Given the description of an element on the screen output the (x, y) to click on. 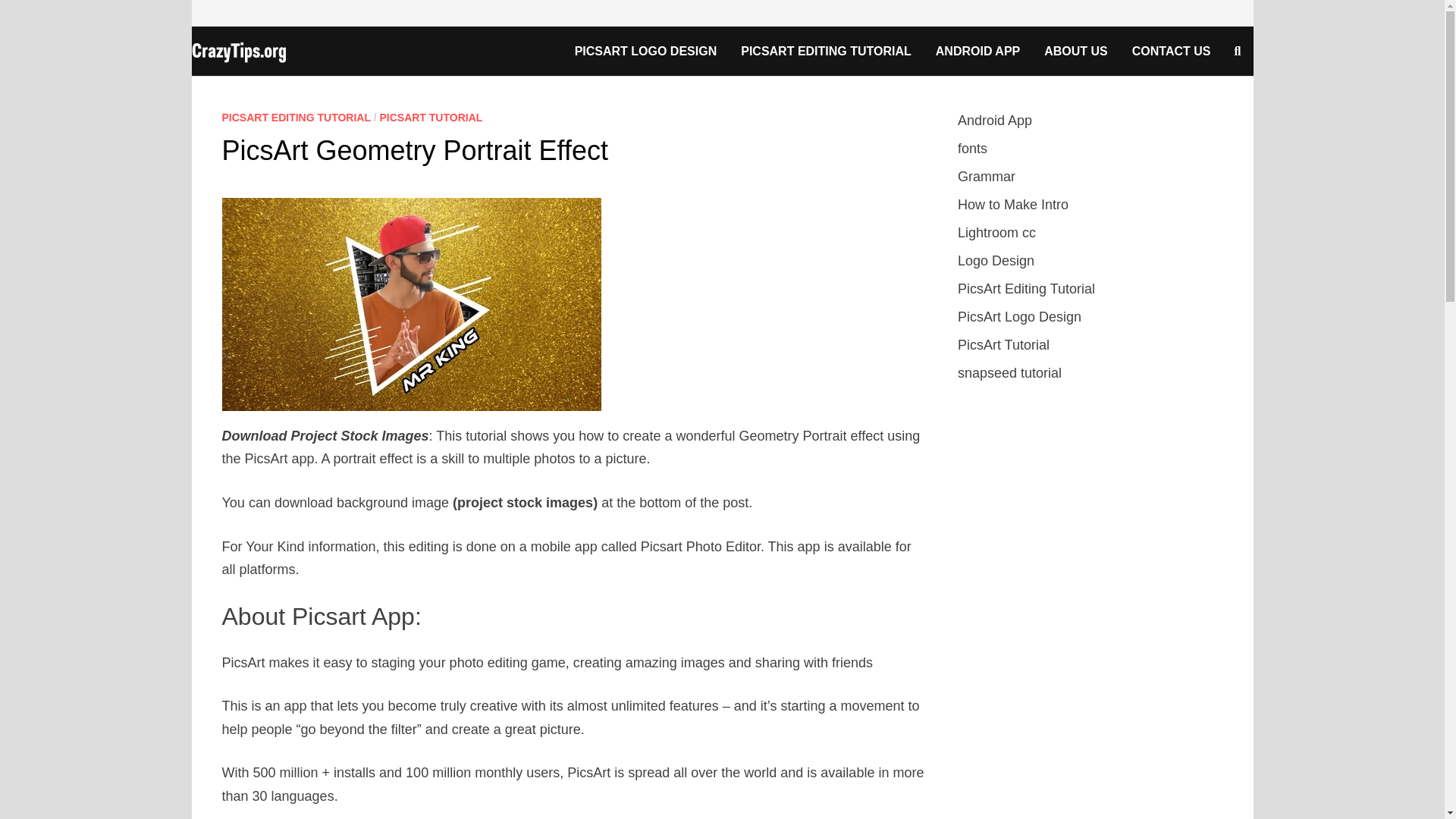
PICSART TUTORIAL (429, 117)
PICSART EDITING TUTORIAL (295, 117)
ANDROID APP (977, 51)
ABOUT US (1075, 51)
PICSART EDITING TUTORIAL (826, 51)
CONTACT US (1171, 51)
PICSART LOGO DESIGN (645, 51)
